Given the description of an element on the screen output the (x, y) to click on. 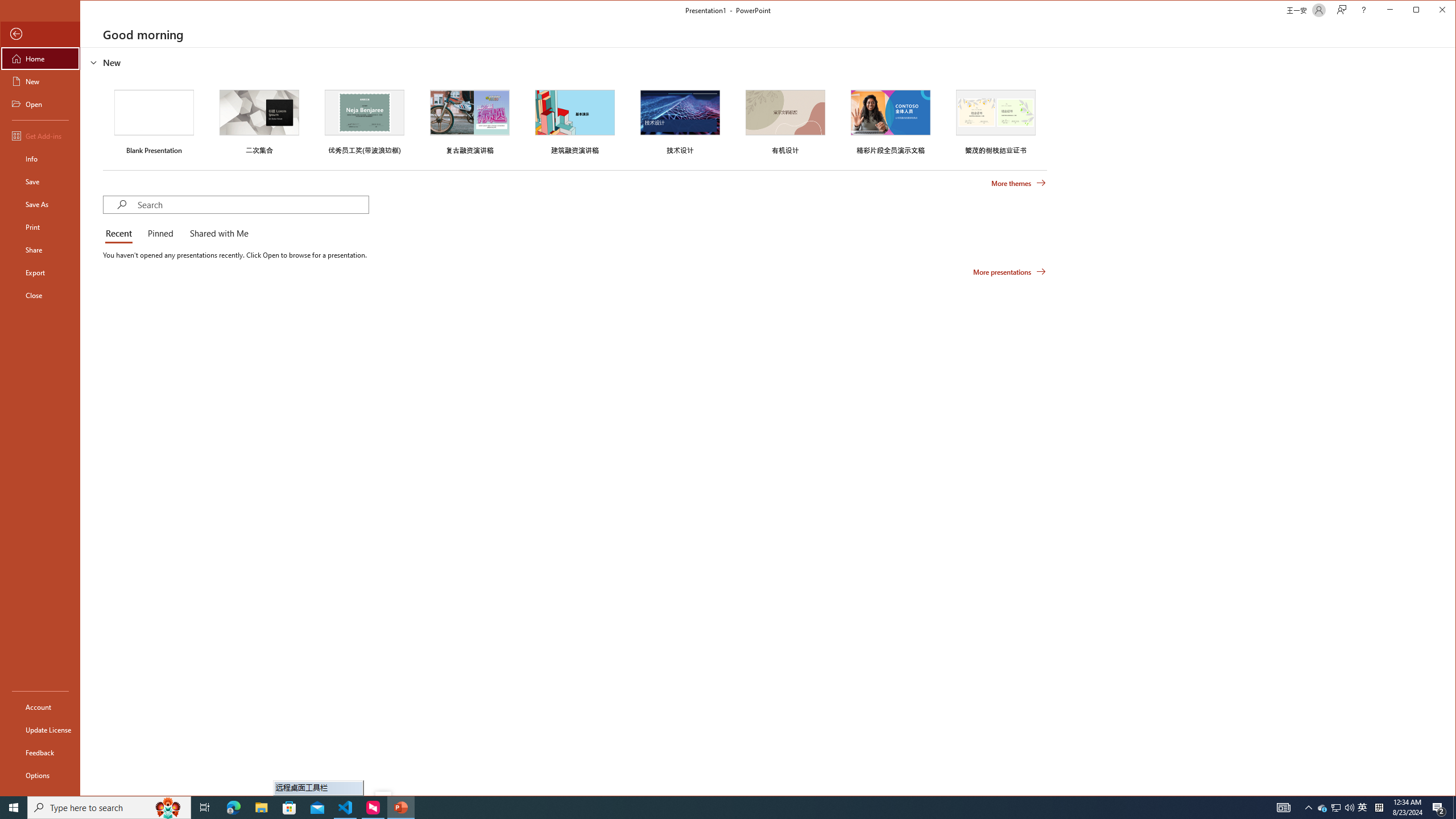
Save As (40, 203)
Info (40, 158)
Shared with Me (216, 234)
